Given the description of an element on the screen output the (x, y) to click on. 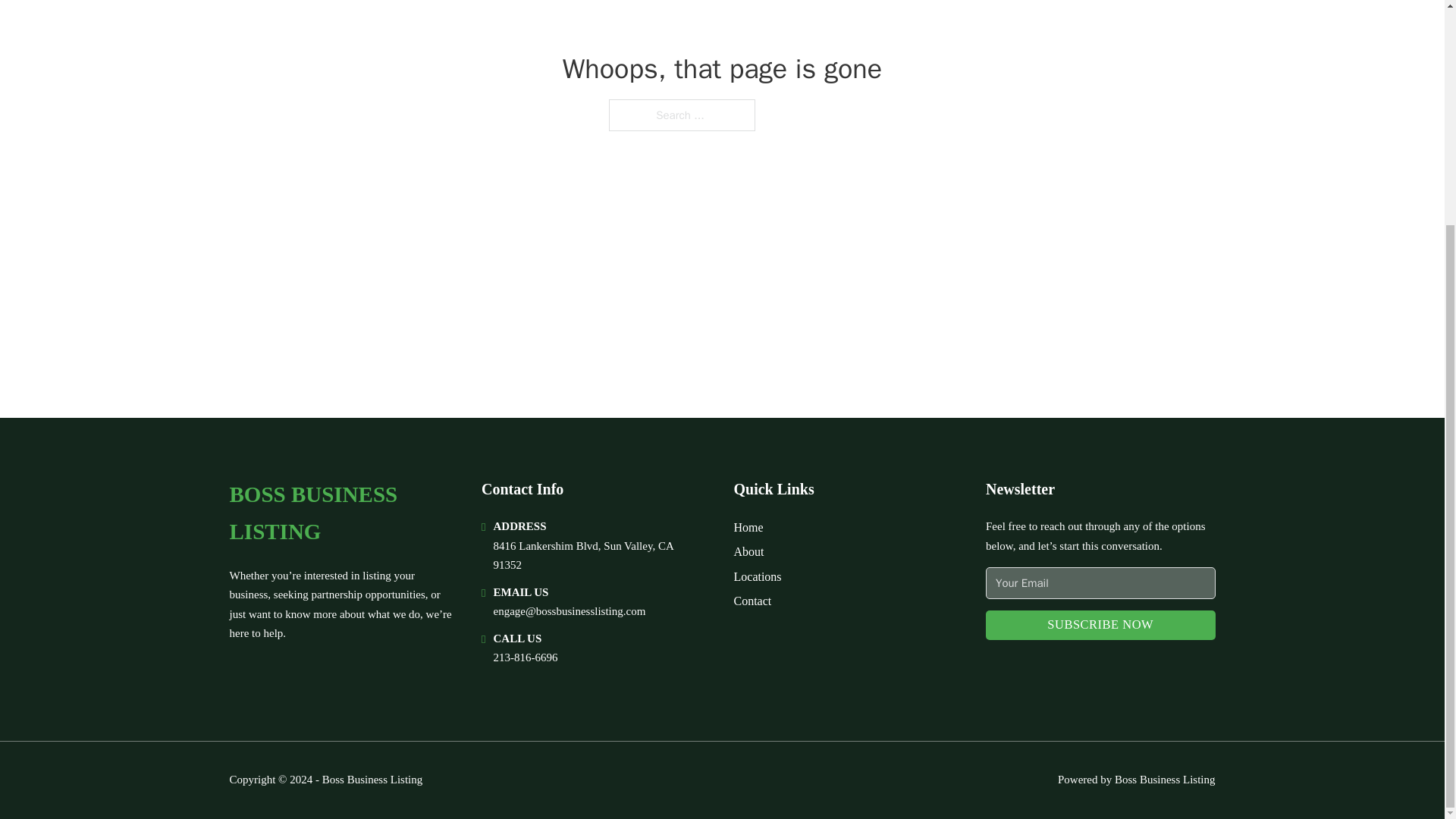
Contact (752, 600)
SUBSCRIBE NOW (1100, 624)
About (748, 551)
213-816-6696 (525, 657)
Locations (757, 576)
Home (747, 526)
BOSS BUSINESS LISTING (343, 513)
